Given the description of an element on the screen output the (x, y) to click on. 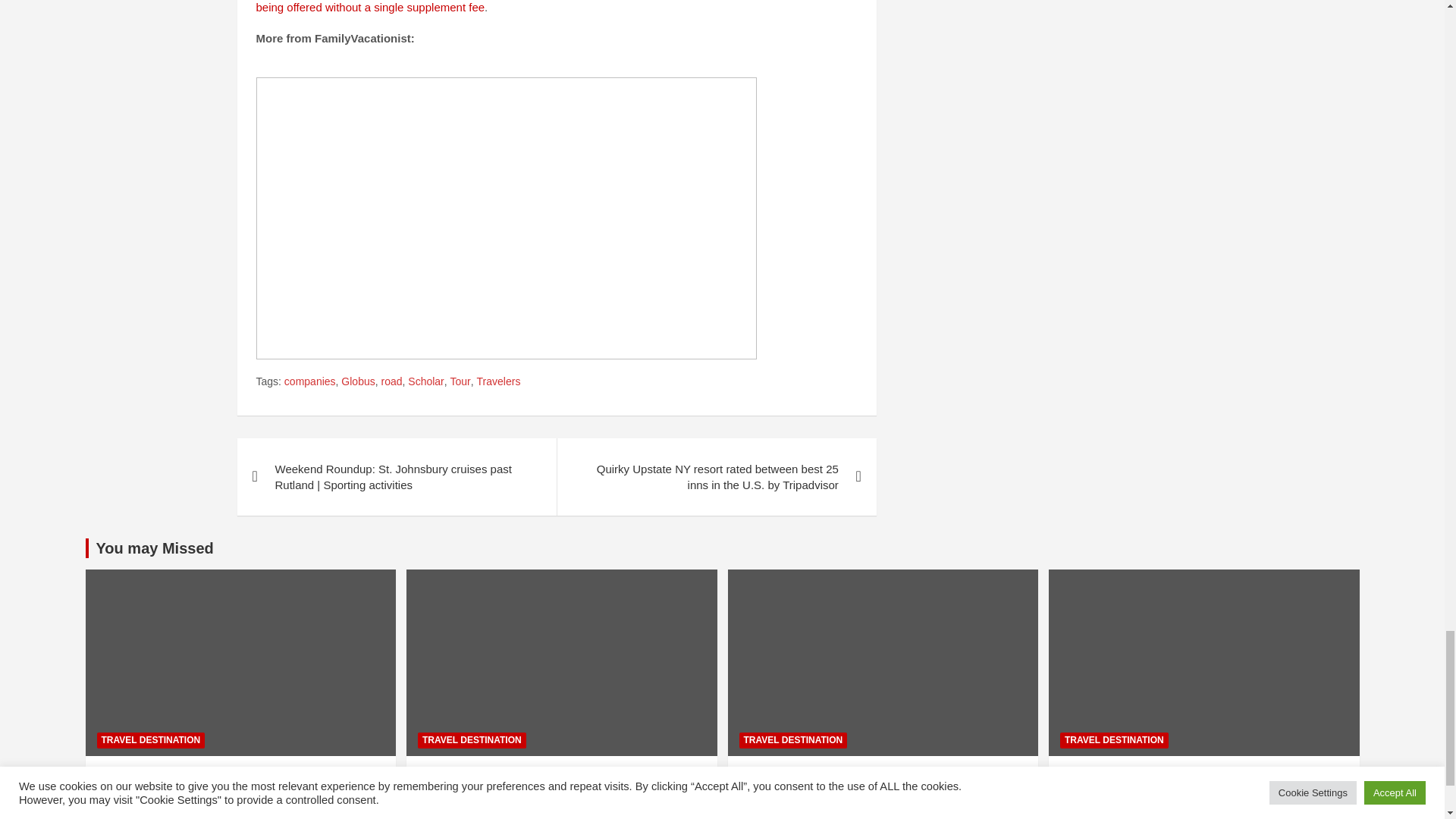
7 Largest Shopping Centers to Explore in Surabaya (129, 814)
